Given the description of an element on the screen output the (x, y) to click on. 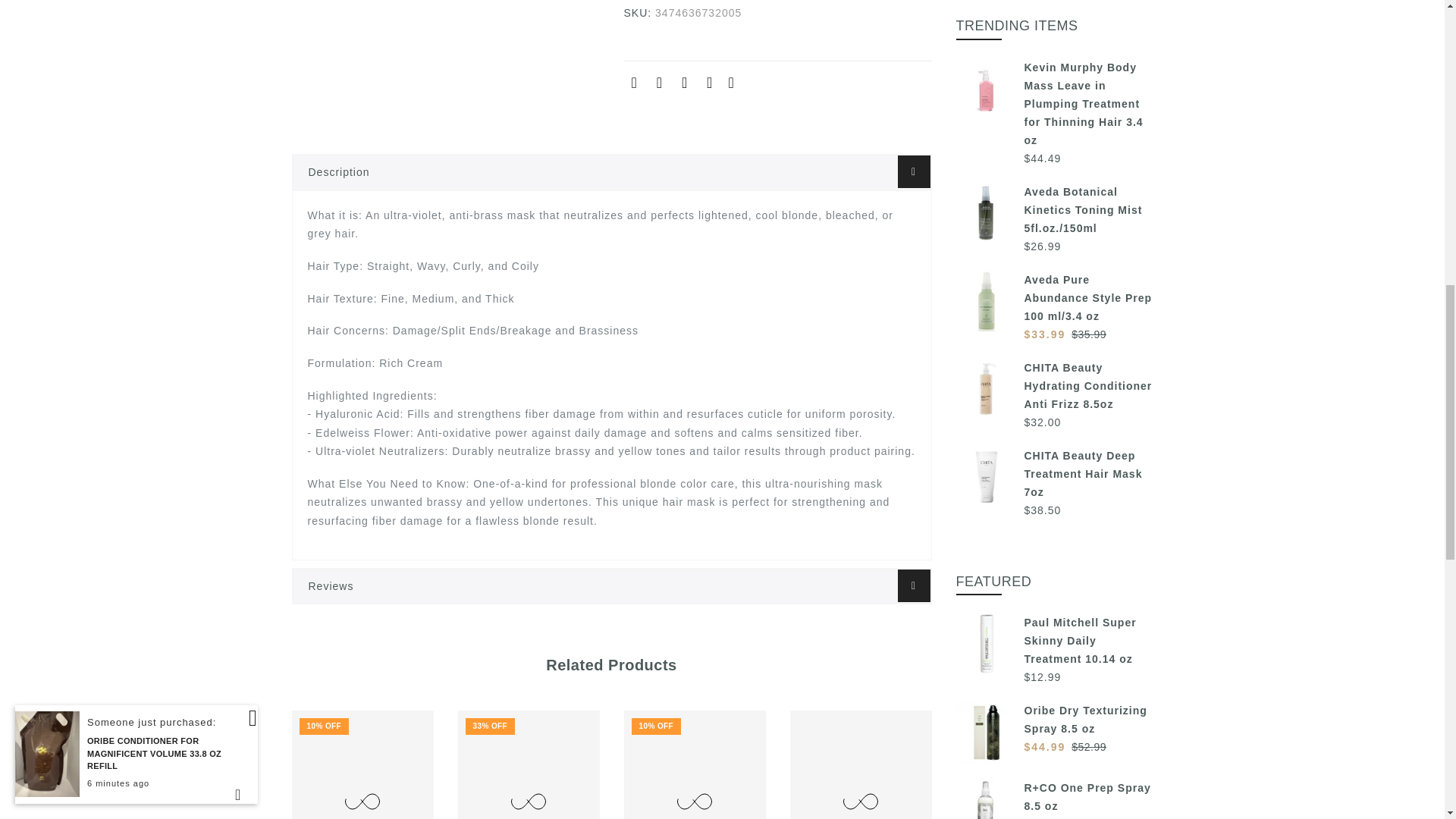
CHITA Beauty Deep Treatment Hair Mask 7oz (1054, 473)
Paul Mitchell Super Skinny Daily Treatment 10.14 oz (1054, 640)
CHITA Beauty Hydrating Conditioner Anti Frizz 8.5oz (1054, 385)
Oribe Dry Texturizing Spray 8.5 oz (1054, 719)
